Given the description of an element on the screen output the (x, y) to click on. 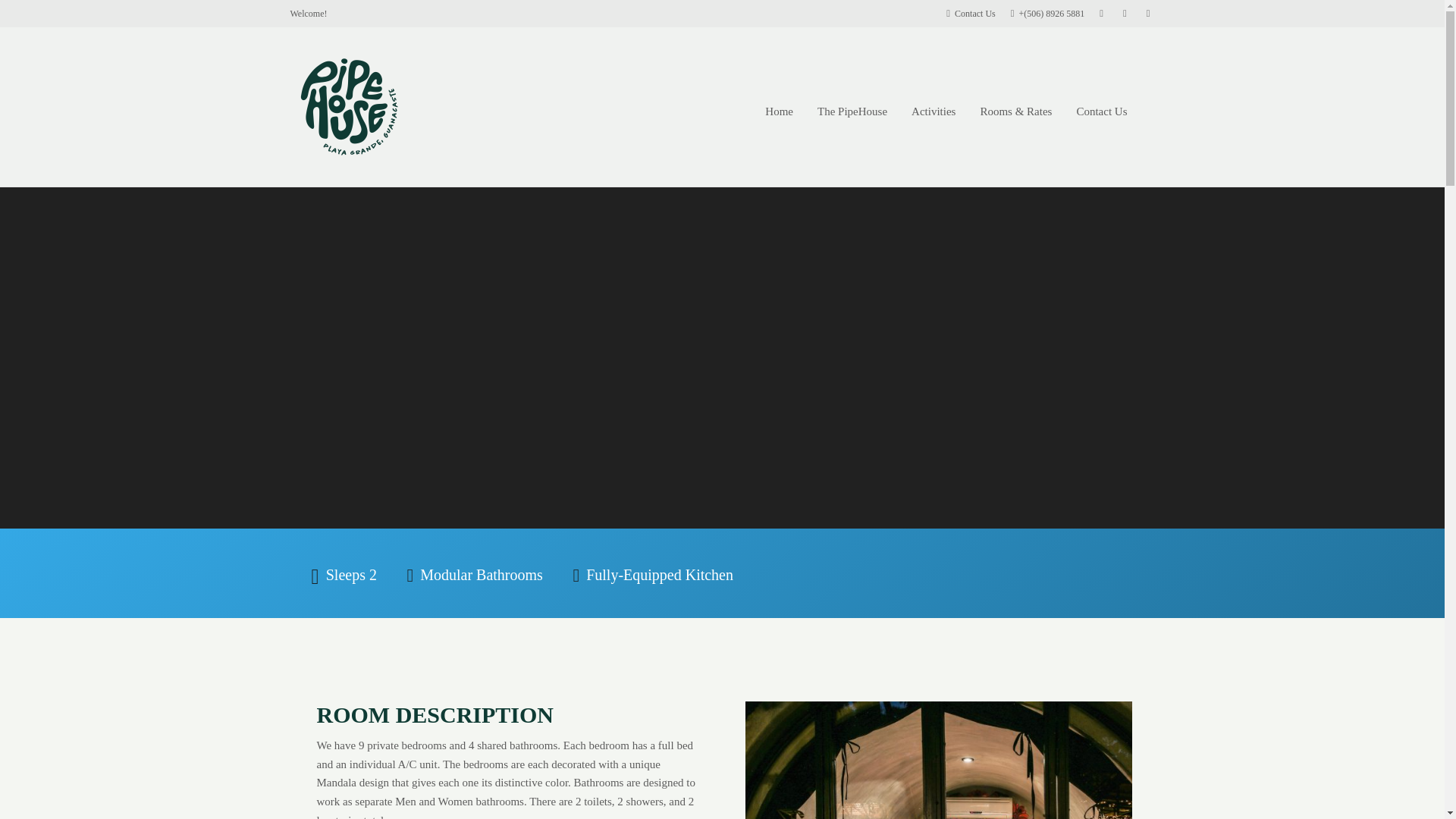
Contact Us (1100, 111)
Contact Us (970, 13)
The PipeHouse (851, 111)
Activities (933, 111)
